Given the description of an element on the screen output the (x, y) to click on. 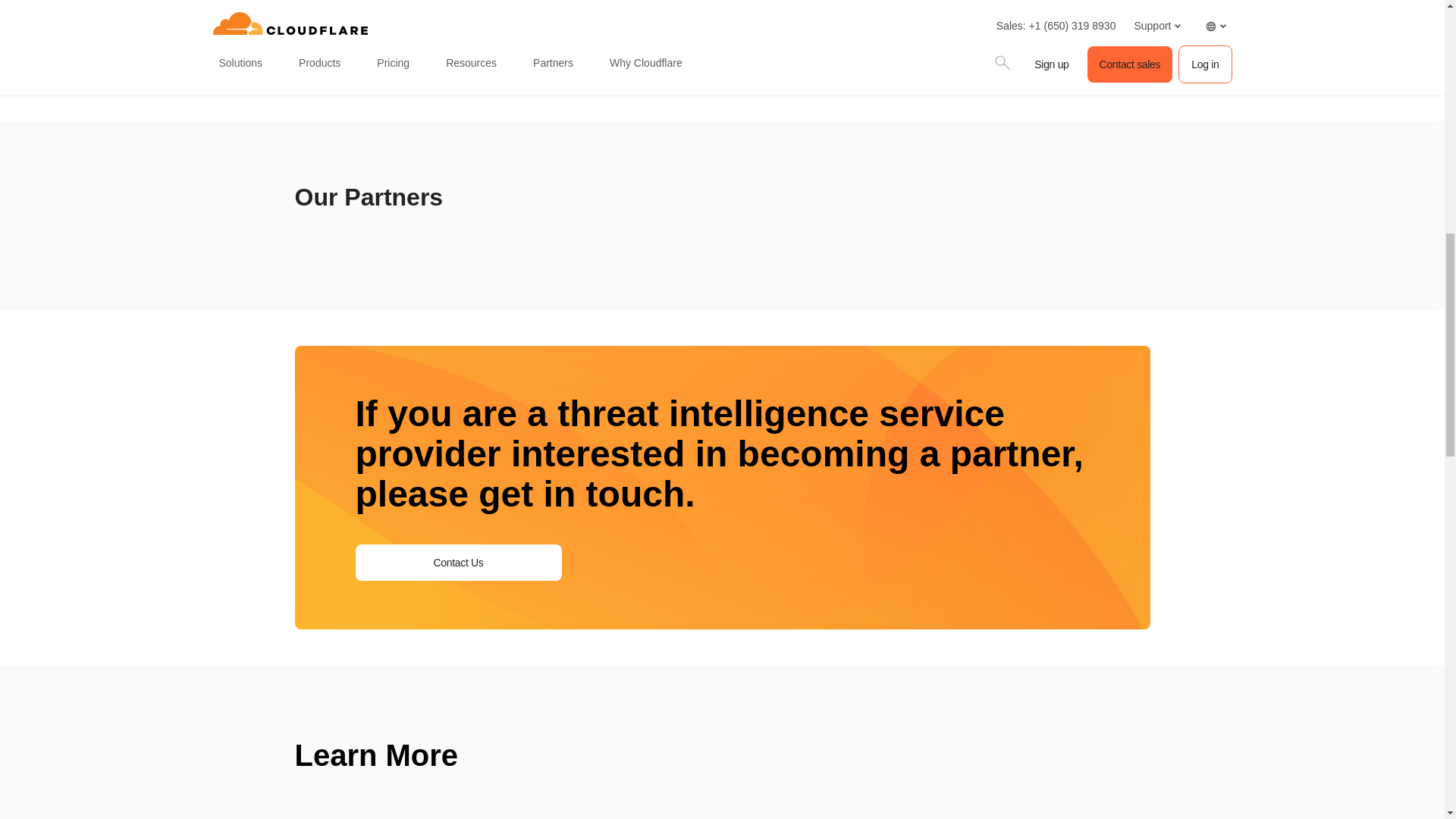
Contact Us (457, 562)
